Given the description of an element on the screen output the (x, y) to click on. 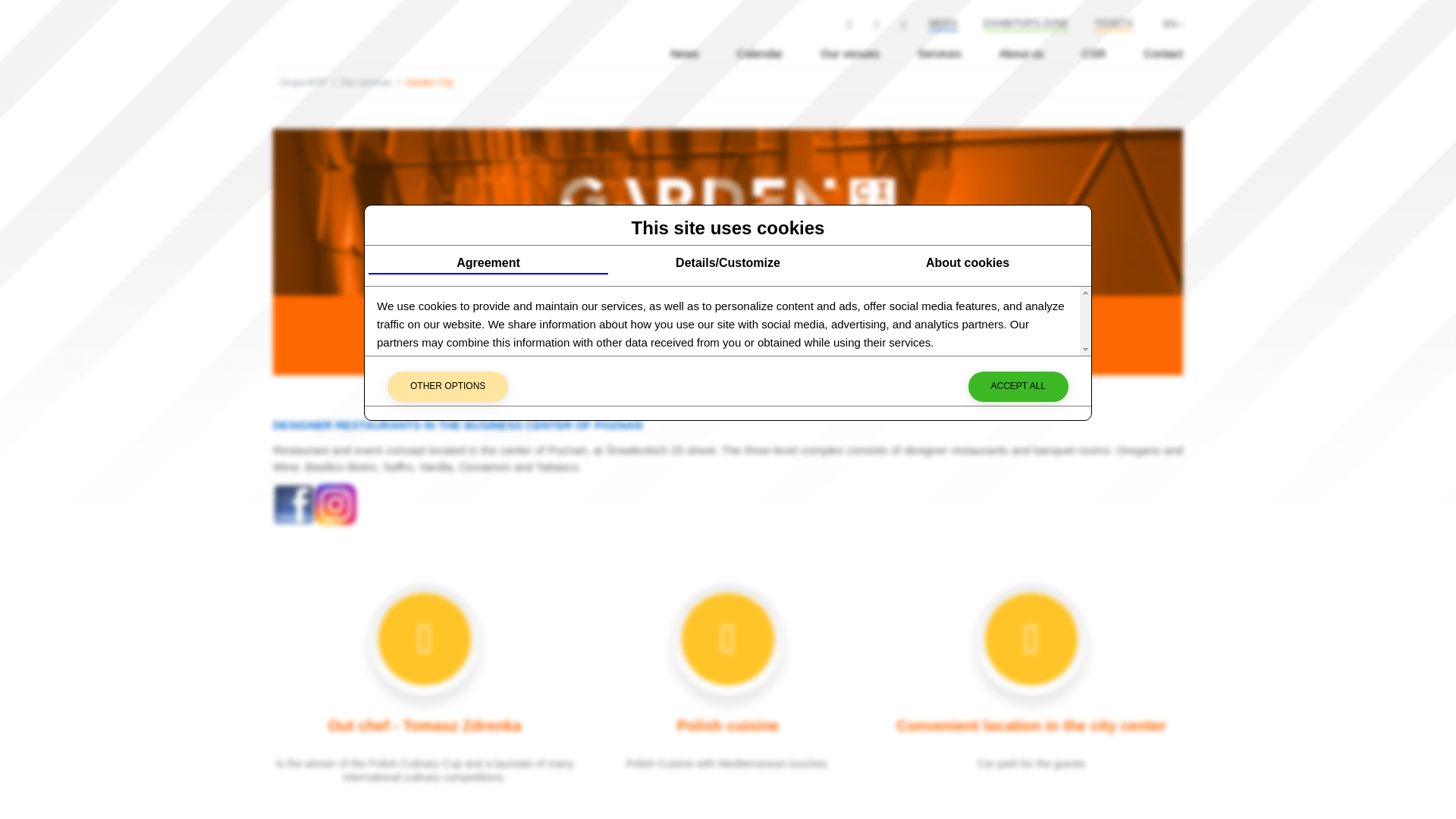
Our venues (850, 53)
Calendar (759, 53)
TICKETS (1113, 23)
News (683, 53)
EXHIBITOR'S ZONE (1025, 23)
Services (938, 53)
EN (1173, 23)
MEDIA (943, 23)
